Given the description of an element on the screen output the (x, y) to click on. 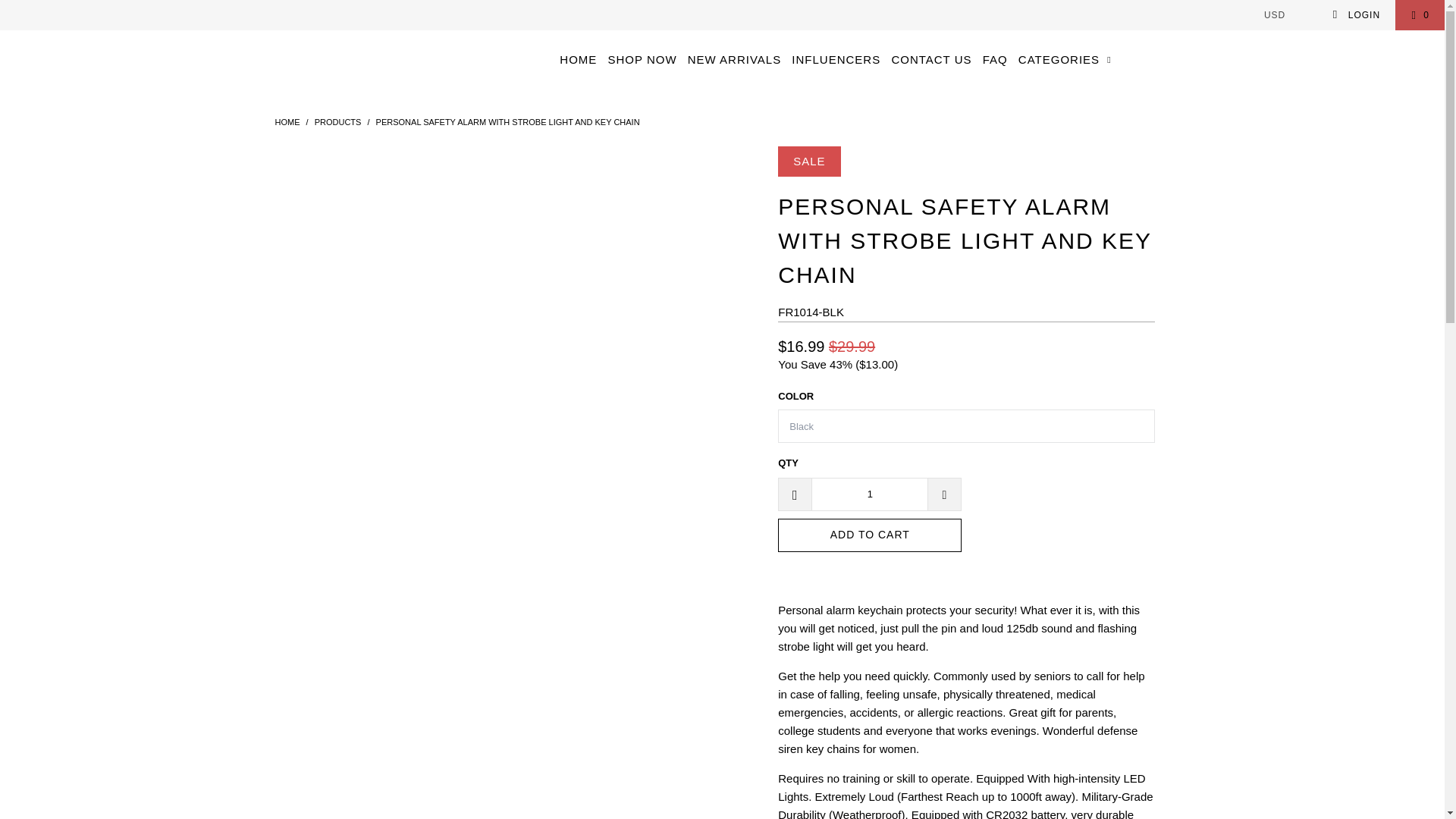
My Account  (1355, 15)
cianabrands.com (122, 41)
cianabrands.com (287, 121)
Products (337, 121)
1 (869, 494)
